Given the description of an element on the screen output the (x, y) to click on. 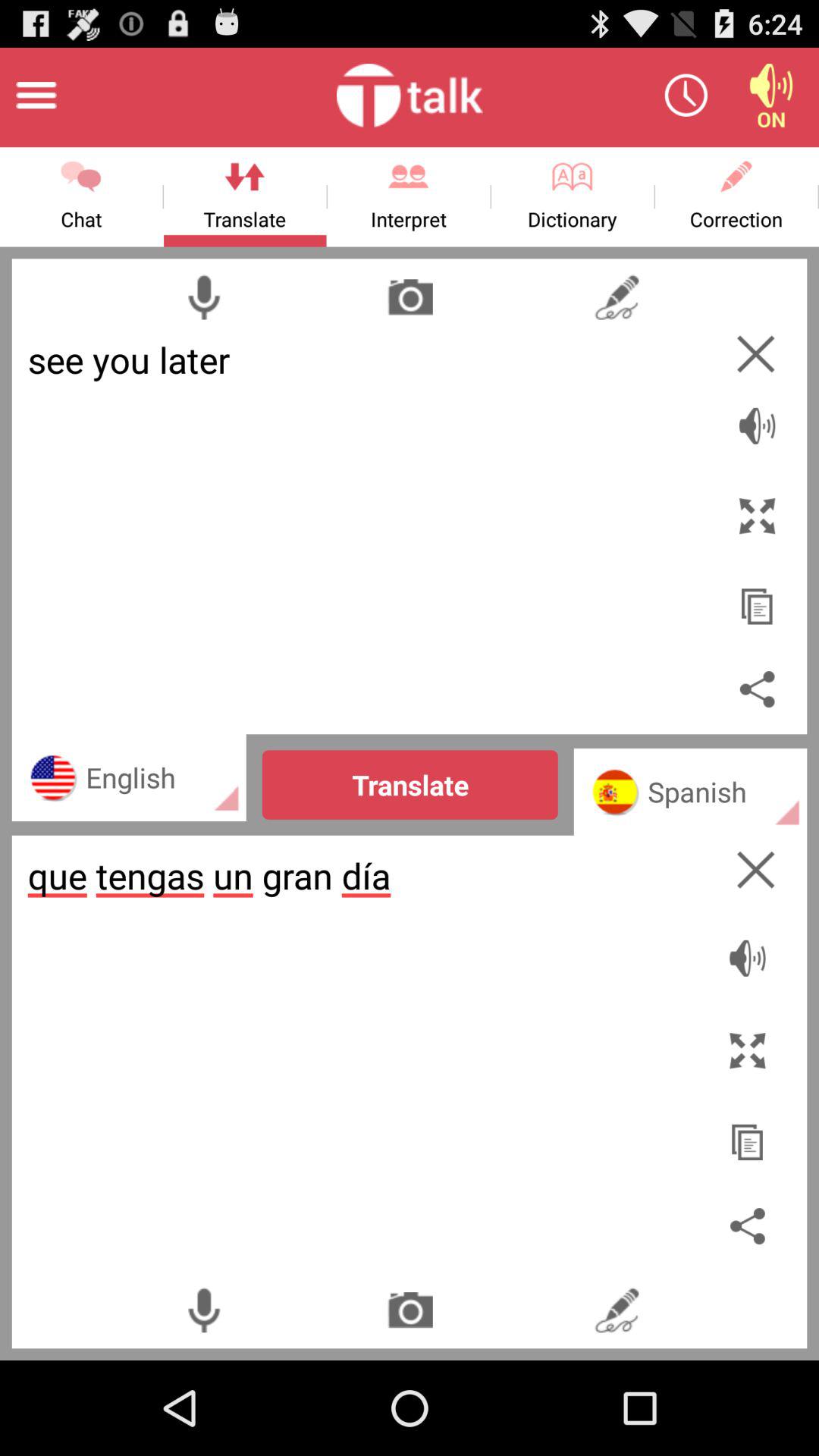
toggle sound (771, 95)
